Given the description of an element on the screen output the (x, y) to click on. 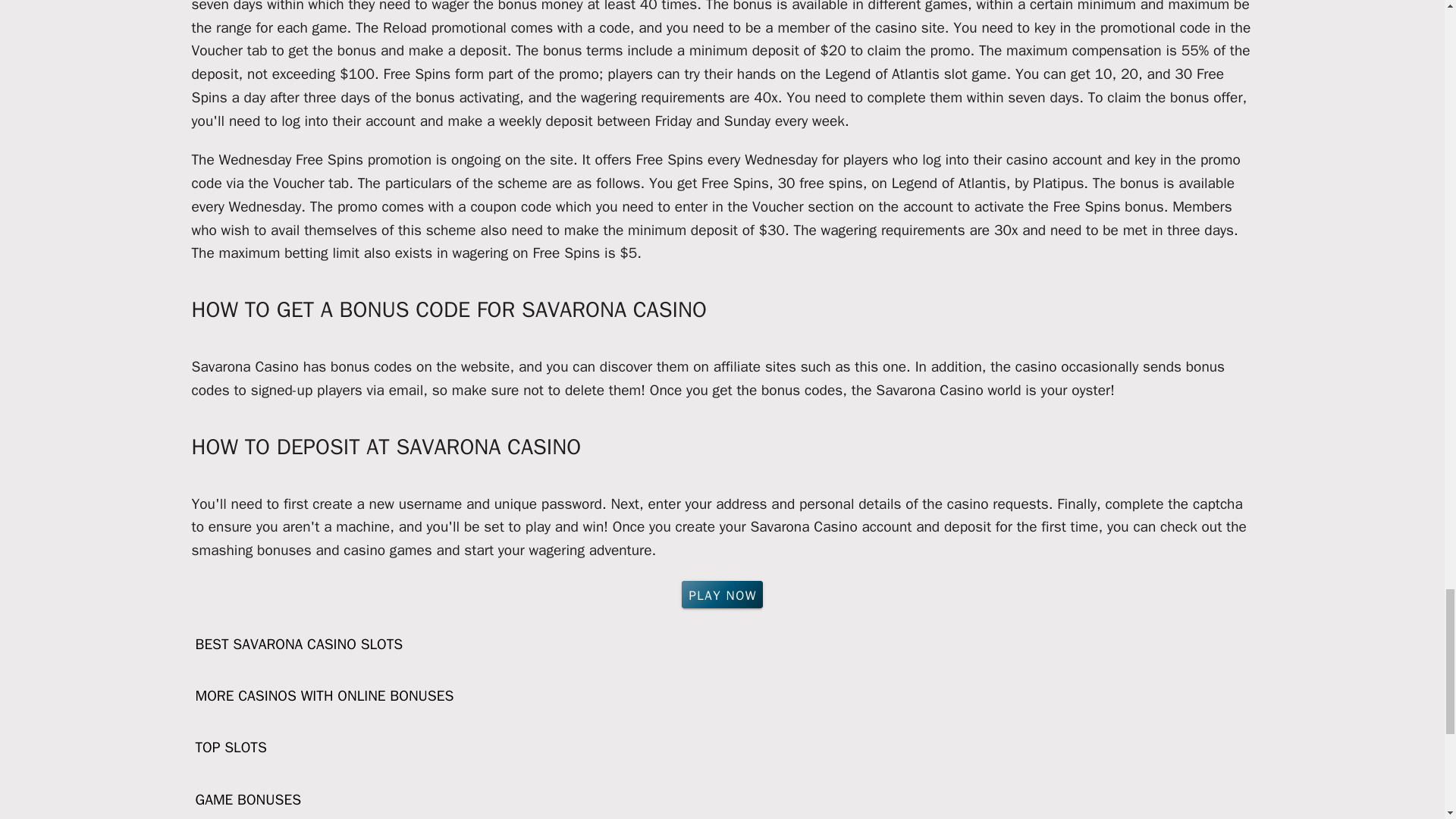
PLAY NOW (721, 594)
